Given the description of an element on the screen output the (x, y) to click on. 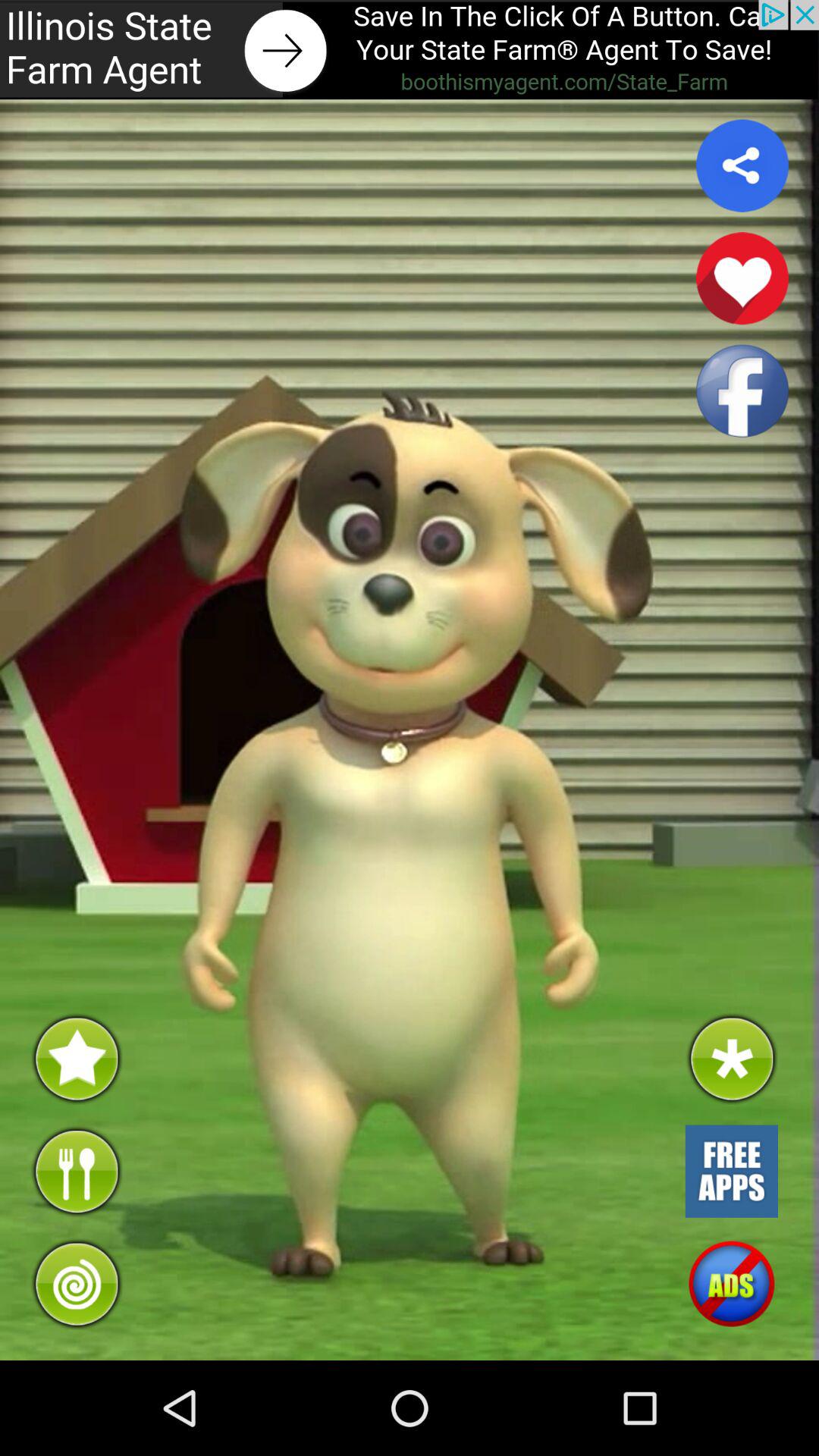
button for eating (76, 1170)
